Given the description of an element on the screen output the (x, y) to click on. 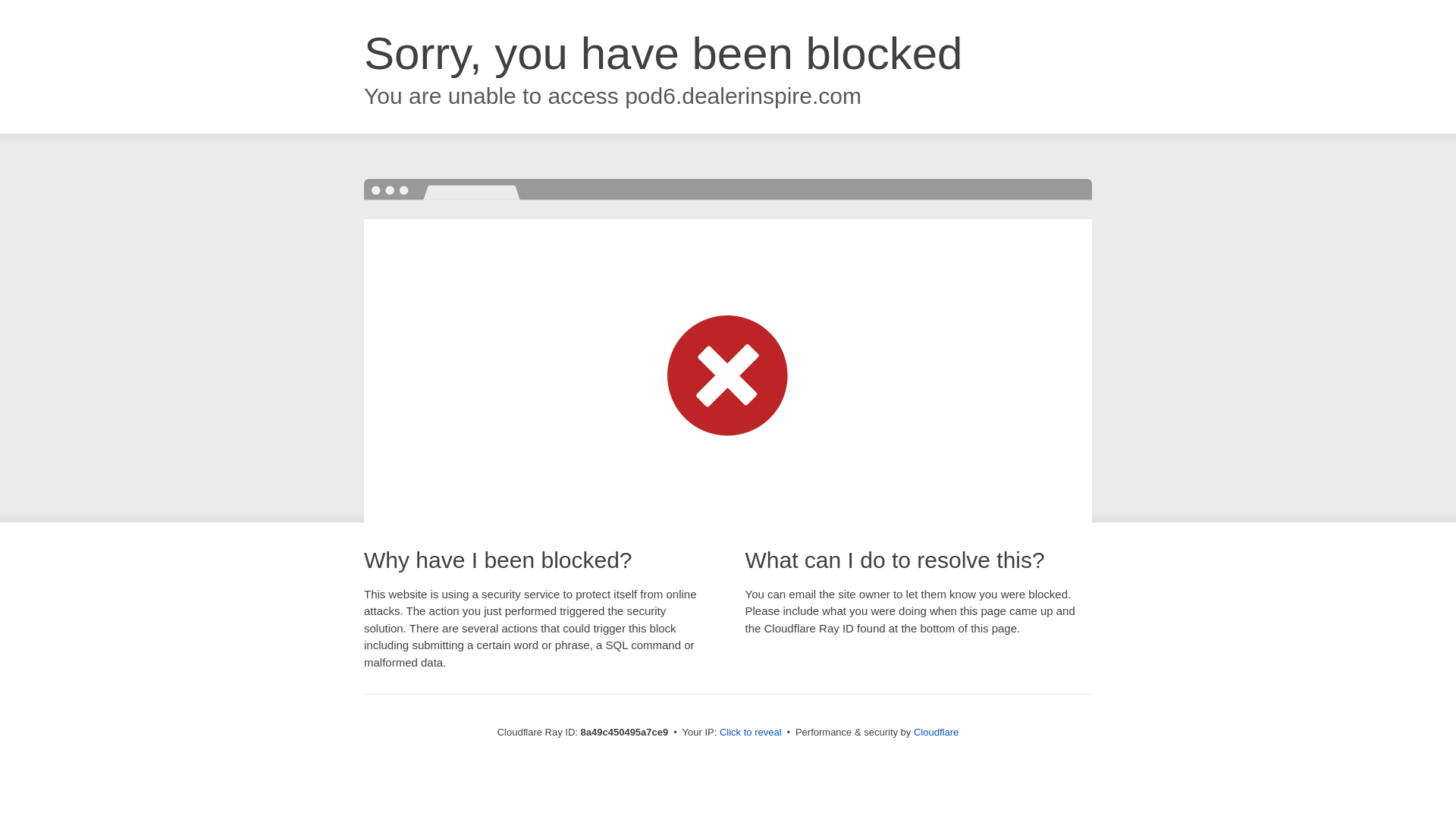
Cloudflare (936, 731)
Click to reveal (750, 732)
